Given the description of an element on the screen output the (x, y) to click on. 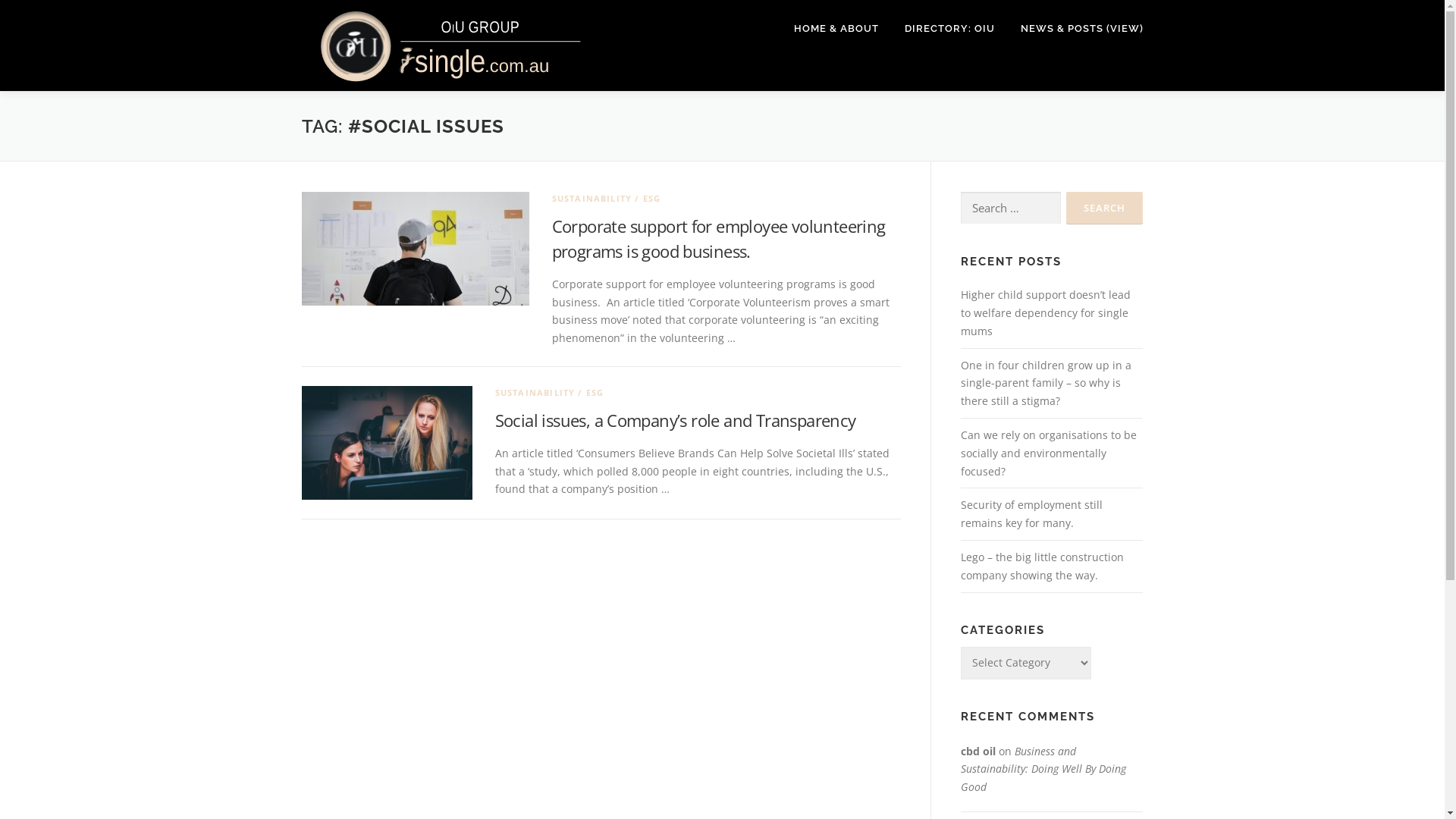
cbd oil Element type: text (977, 750)
SUSTAINABILITY / ESG Element type: text (548, 392)
Security of employment still remains key for many. Element type: text (1030, 513)
Business and Sustainability: Doing Well By Doing Good Element type: text (1042, 768)
NEWS & POSTS (VIEW) Element type: text (1074, 28)
HOME & ABOUT Element type: text (836, 28)
DIRECTORY: OIU Element type: text (949, 28)
SUSTAINABILITY / ESG Element type: text (606, 197)
Search Element type: text (1104, 207)
